Given the description of an element on the screen output the (x, y) to click on. 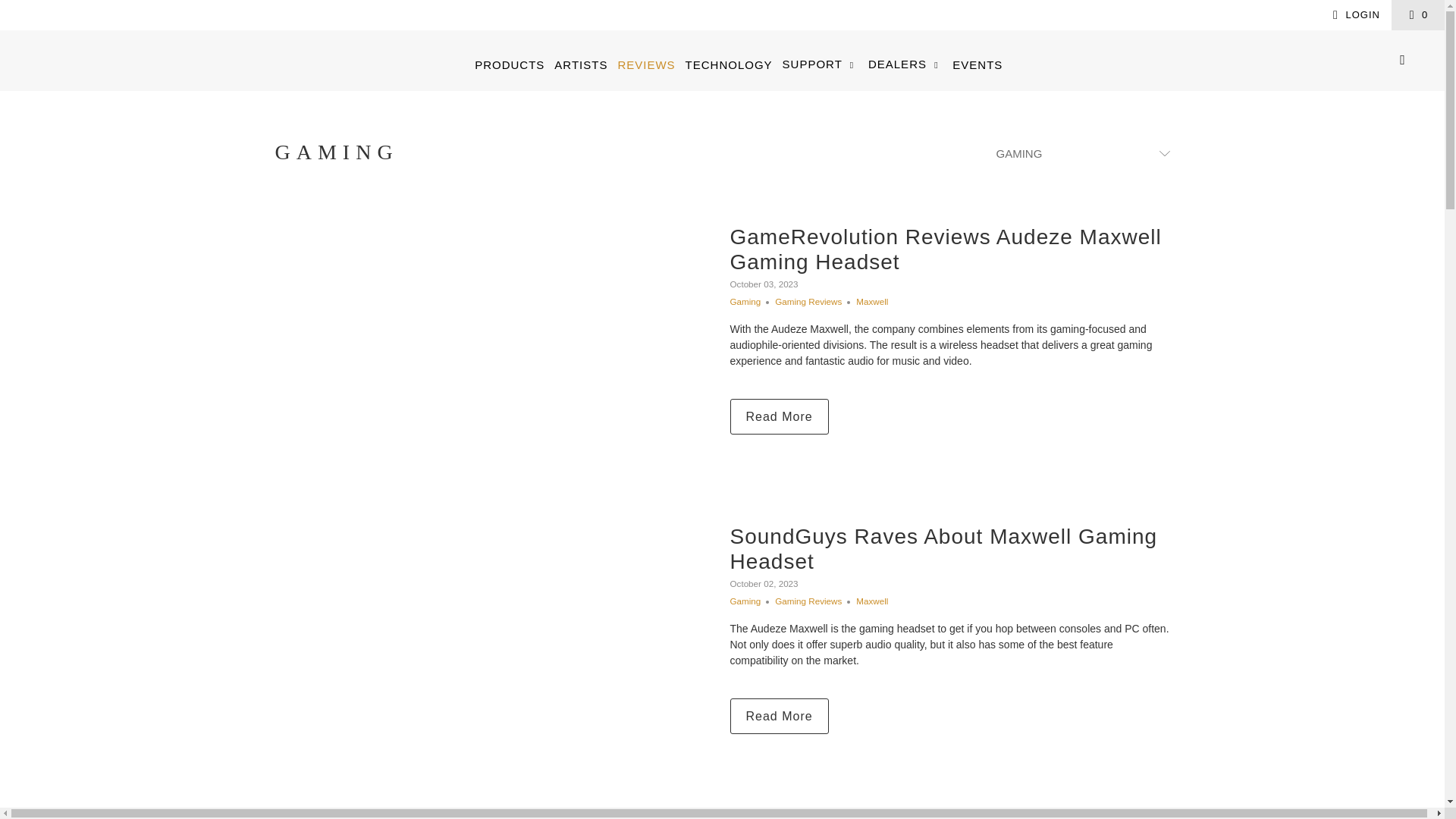
Publication Reviews (336, 151)
My Account  (1353, 14)
GameRevolution Reviews Audeze Maxwell Gaming Headset (778, 416)
Publication Reviews tagged Maxwell (872, 601)
Publication Reviews tagged Gaming Reviews (807, 601)
ARTISTS (580, 64)
SoundGuys Raves About Maxwell Gaming Headset (778, 715)
SoundGuys Raves About Maxwell Gaming Headset (494, 655)
GameRevolution Reviews Audeze Maxwell Gaming Headset (494, 355)
0 (1417, 15)
Publication Reviews tagged Gaming (744, 601)
LOGIN (1353, 14)
PRODUCTS (509, 64)
REVIEWS (646, 64)
Publication Reviews tagged Maxwell (872, 301)
